Given the description of an element on the screen output the (x, y) to click on. 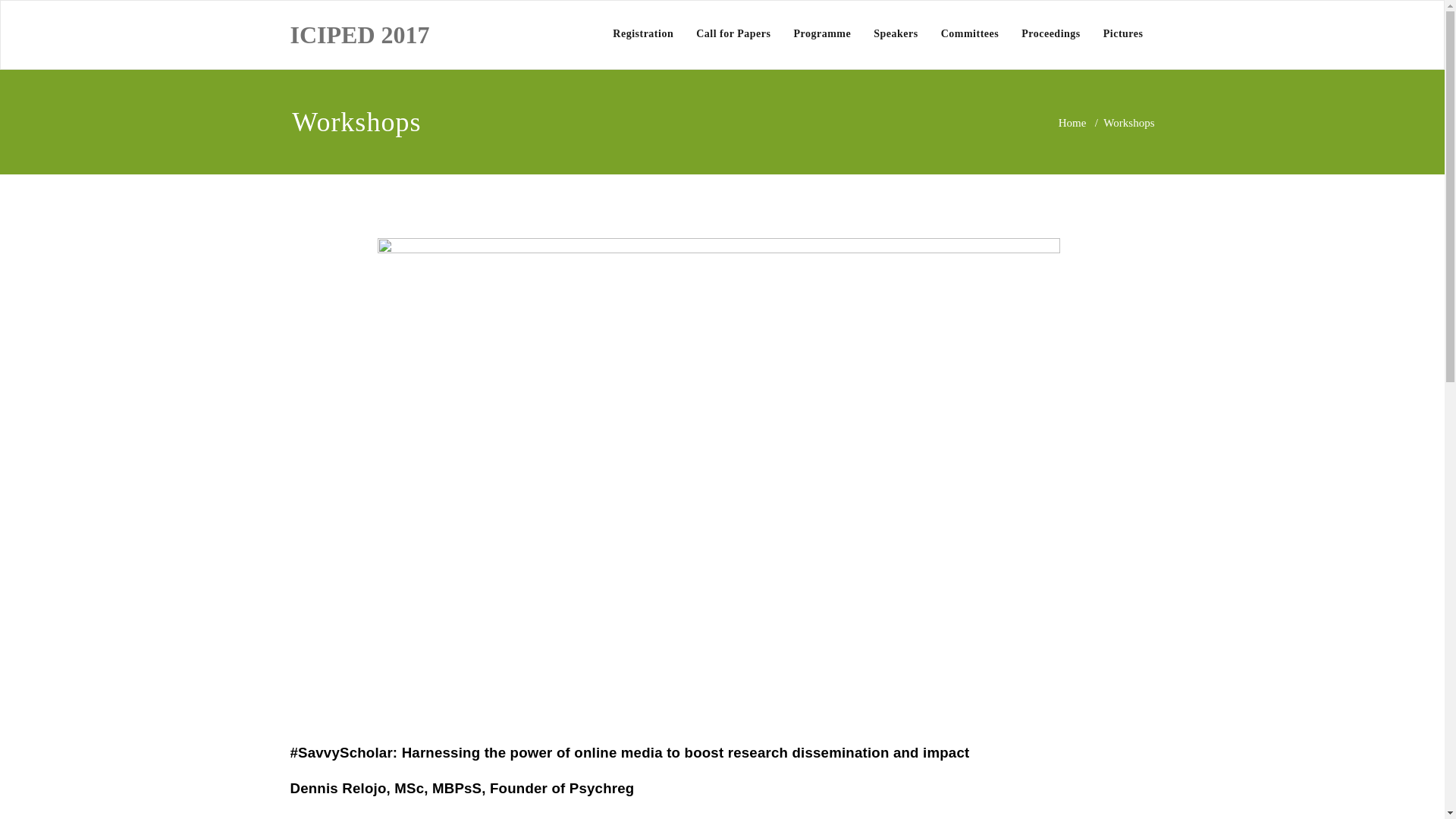
ICIPED 2017 (359, 34)
Committees (970, 33)
Pictures (1123, 33)
Proceedings (1051, 33)
Programme (821, 33)
Home (1072, 122)
Registration (642, 33)
Speakers (894, 33)
Call for Papers (732, 33)
